Given the description of an element on the screen output the (x, y) to click on. 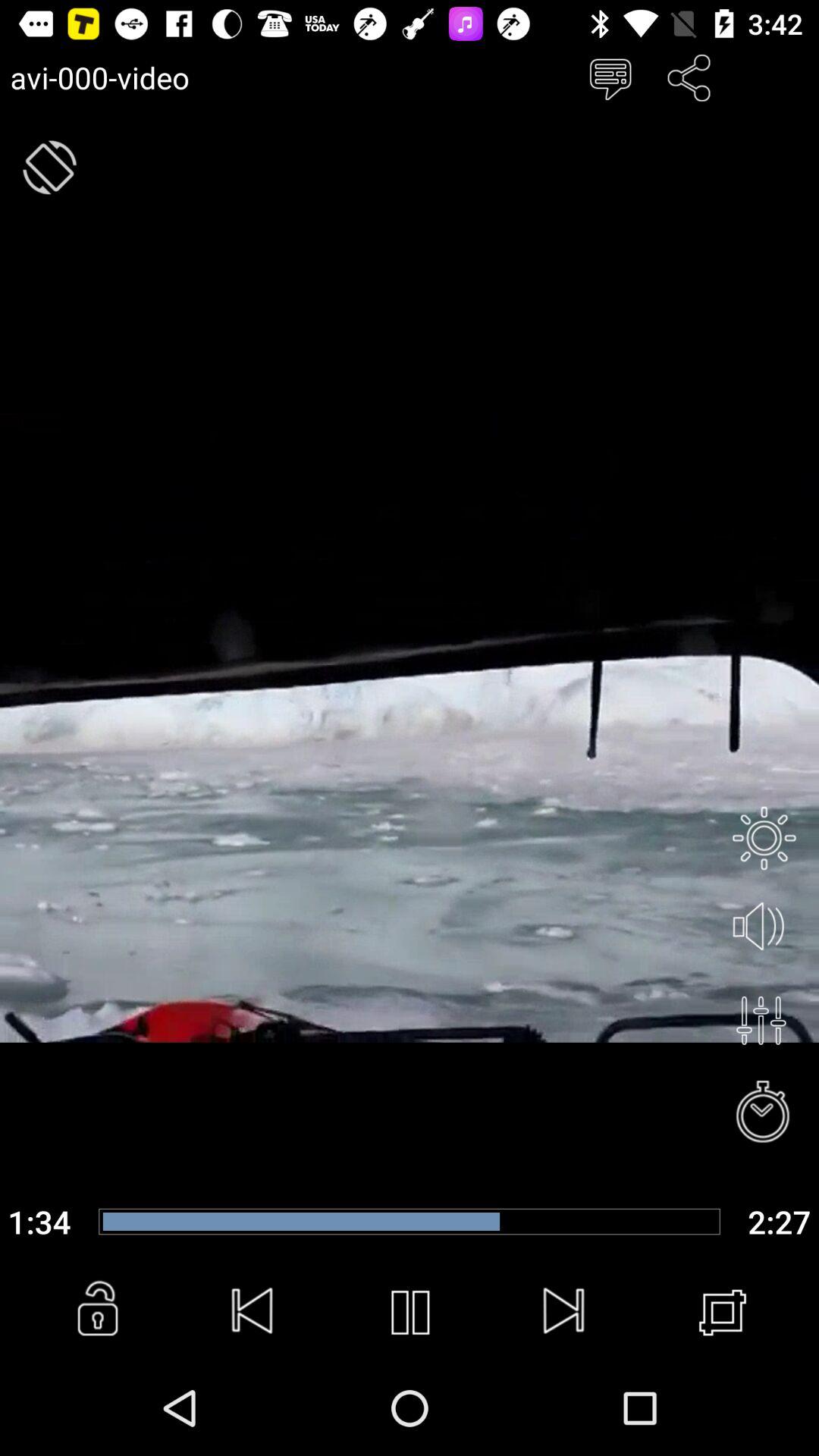
menu options (609, 77)
